Given the description of an element on the screen output the (x, y) to click on. 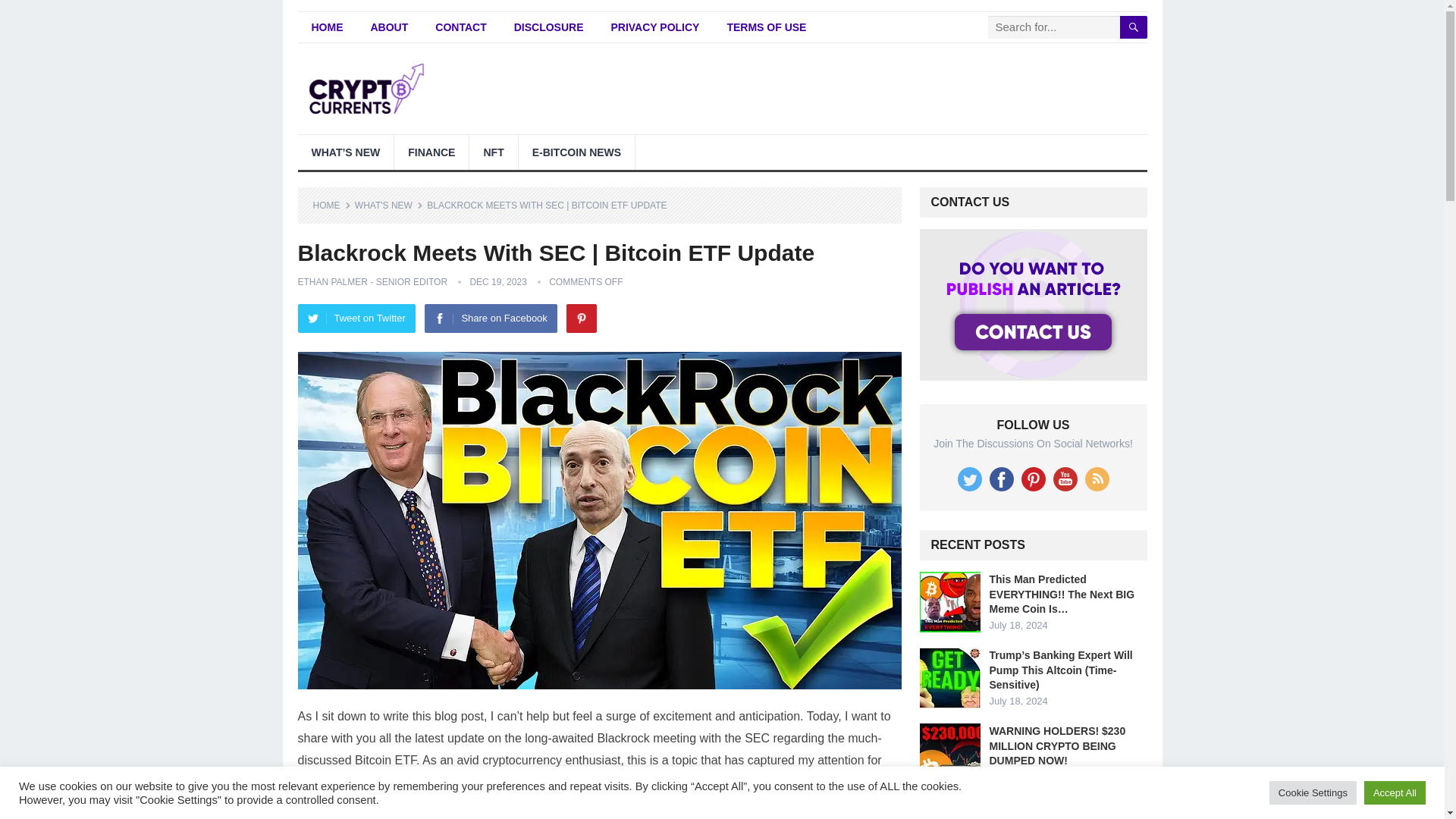
FINANCE (431, 152)
Share on Facebook (490, 317)
Pinterest (581, 317)
PRIVACY POLICY (654, 27)
ABOUT (389, 27)
CONTACT (460, 27)
NFT (492, 152)
View all posts in What's New (389, 204)
Posts by Ethan Palmer - Senior Editor (371, 281)
TERMS OF USE (766, 27)
DISCLOSURE (548, 27)
ETHAN PALMER - SENIOR EDITOR (371, 281)
HOME (326, 27)
HOME (331, 204)
WHAT'S NEW (389, 204)
